Given the description of an element on the screen output the (x, y) to click on. 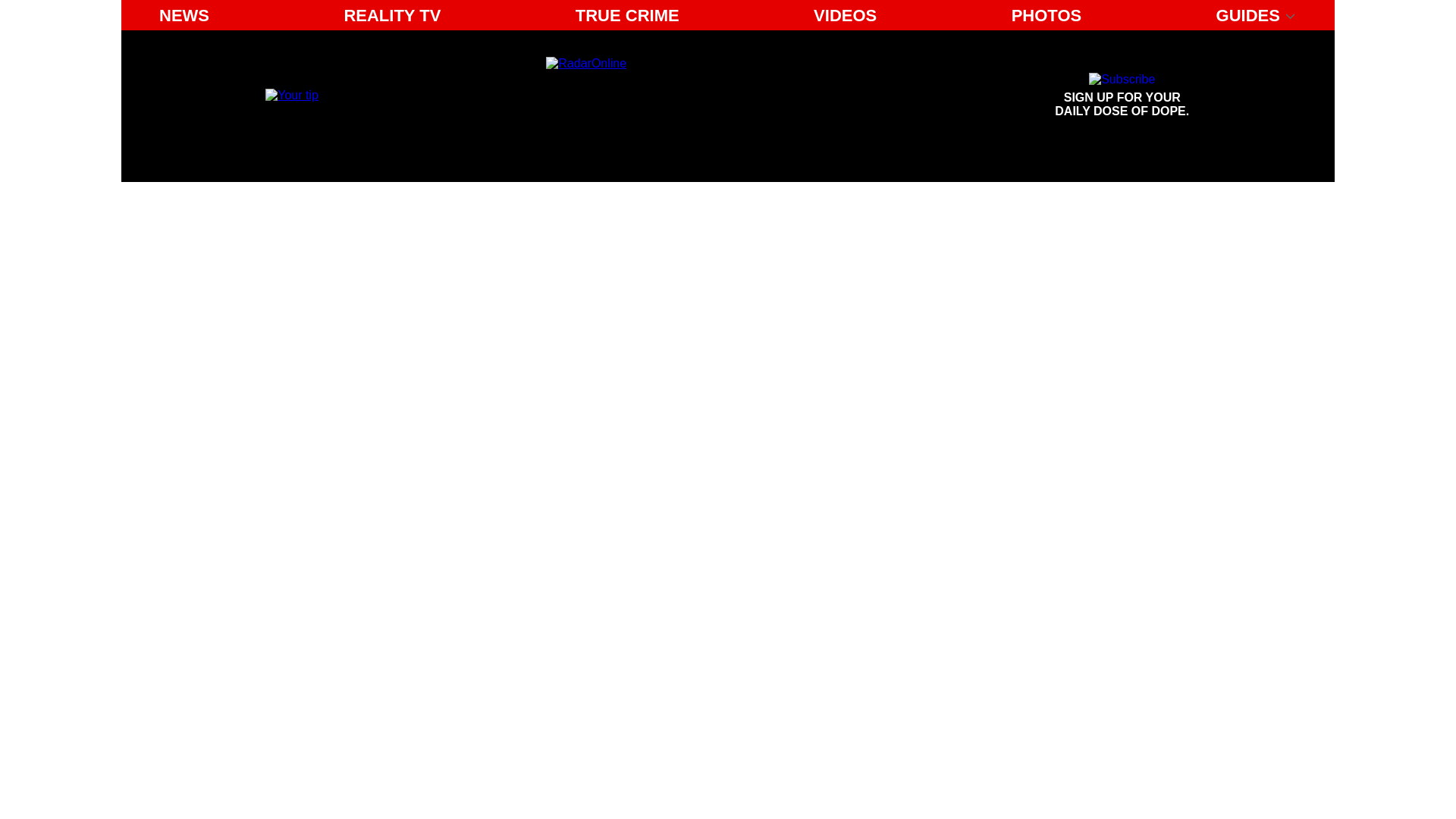
REALITY TV (1122, 94)
PHOTOS (392, 15)
VIDEOS (1046, 15)
NEWS (844, 15)
TRUE CRIME (183, 15)
Sign up for your daily dose of dope. (627, 15)
Email us your tip (1122, 94)
Radar Online (291, 94)
